Given the description of an element on the screen output the (x, y) to click on. 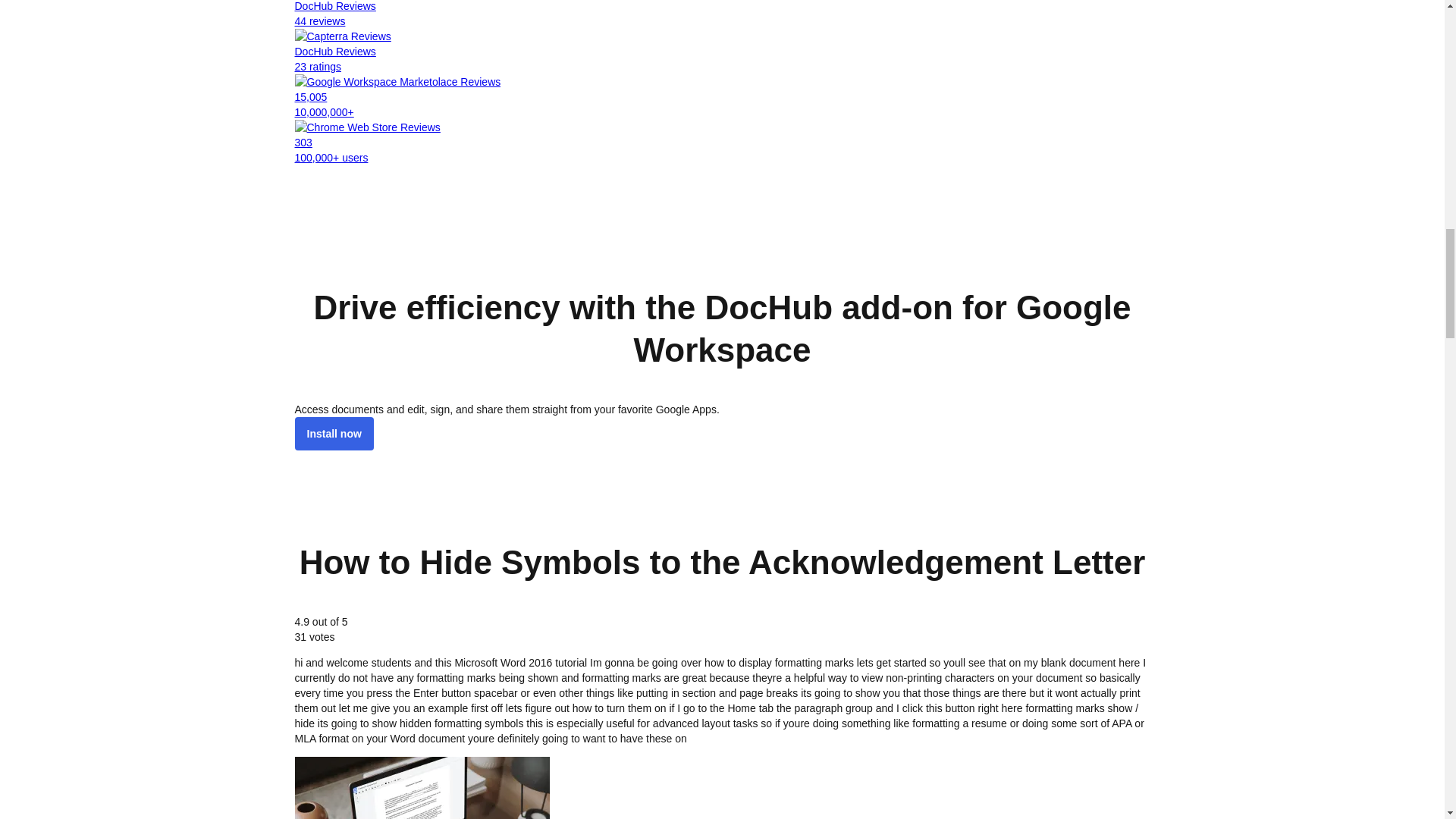
Install now (333, 433)
